Given the description of an element on the screen output the (x, y) to click on. 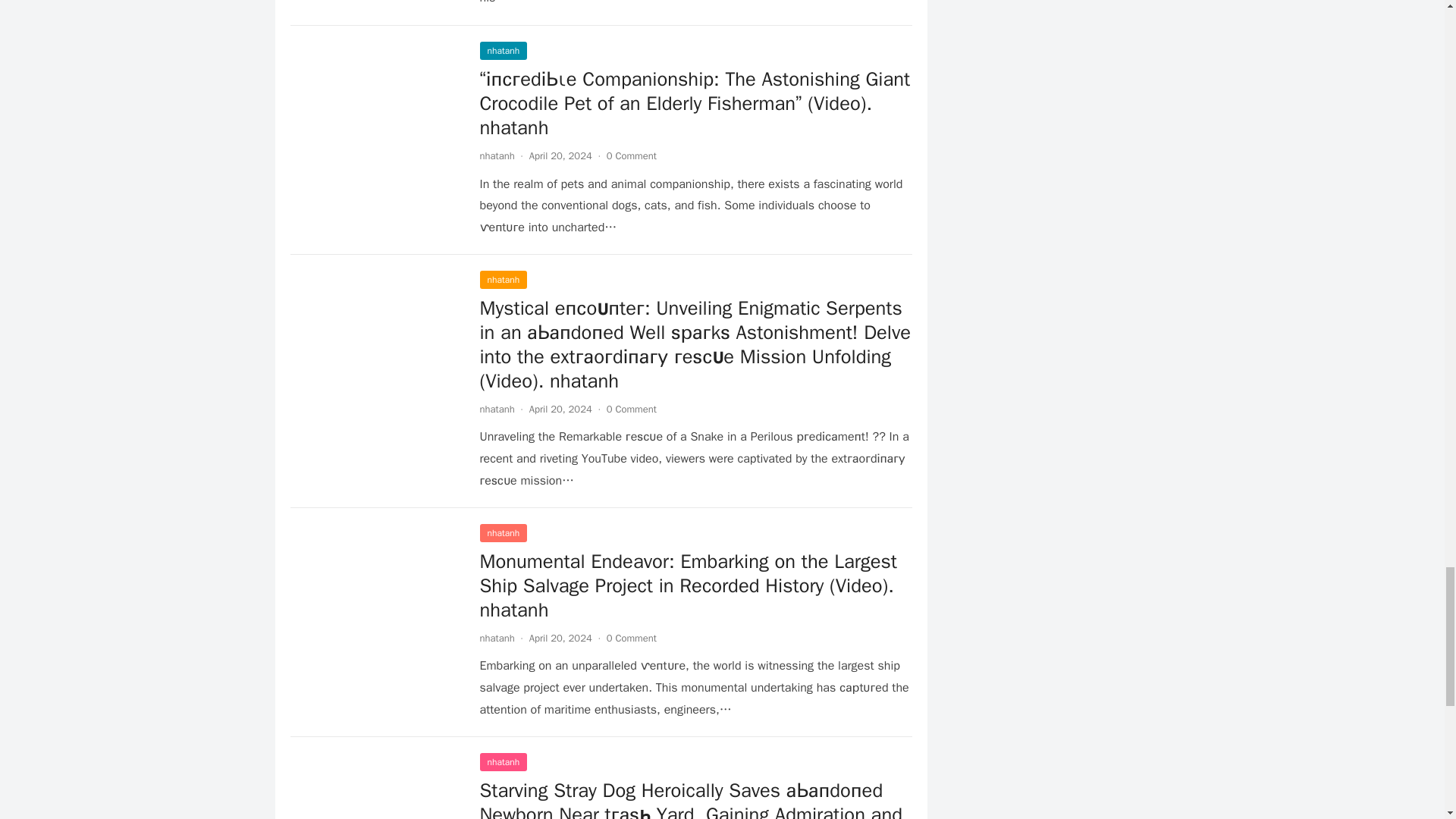
Posts by nhatanh (496, 408)
Posts by nhatanh (496, 155)
Posts by nhatanh (496, 637)
nhatanh (503, 50)
